Given the description of an element on the screen output the (x, y) to click on. 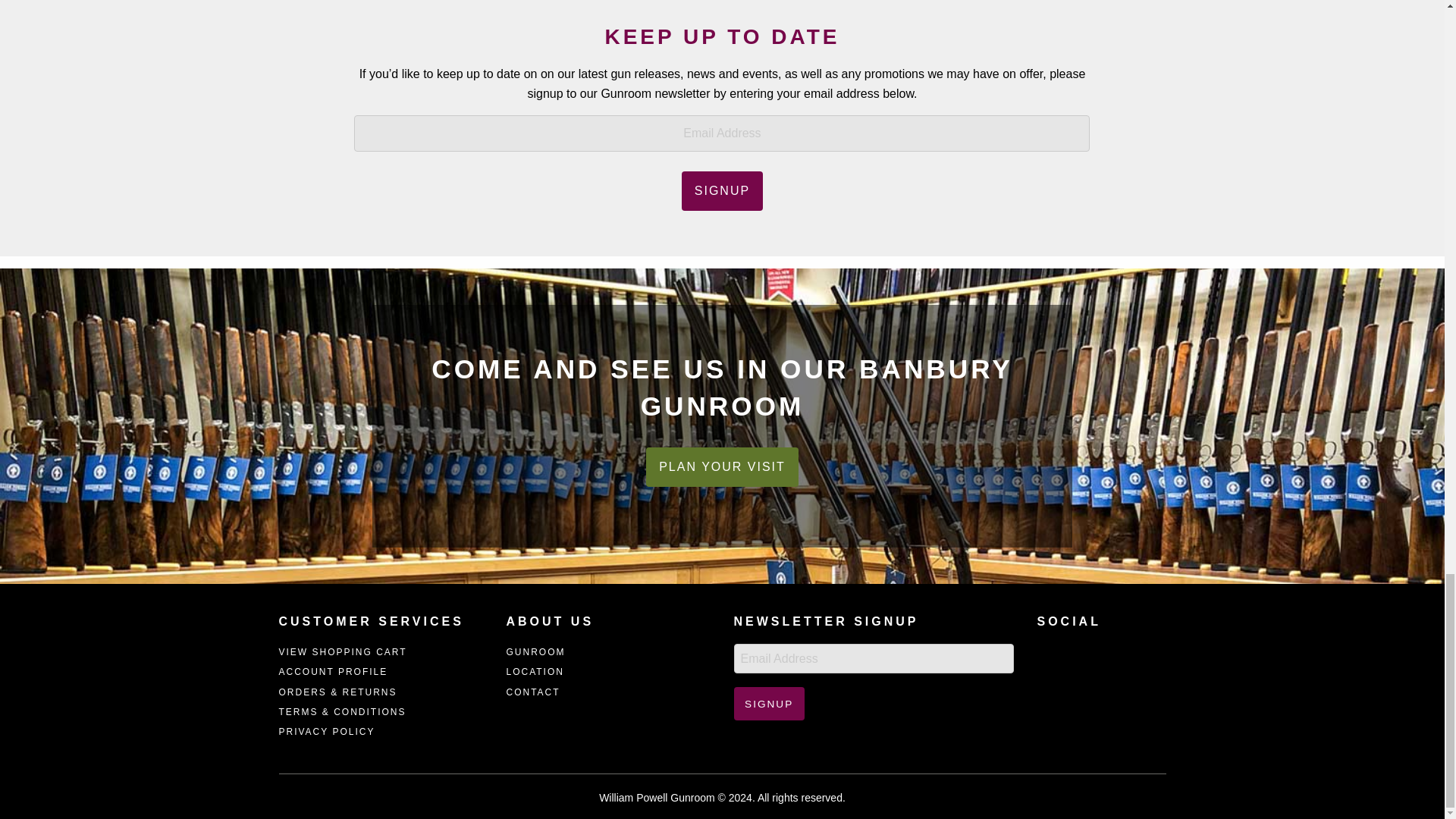
Signup (721, 190)
Signup (769, 703)
